Given the description of an element on the screen output the (x, y) to click on. 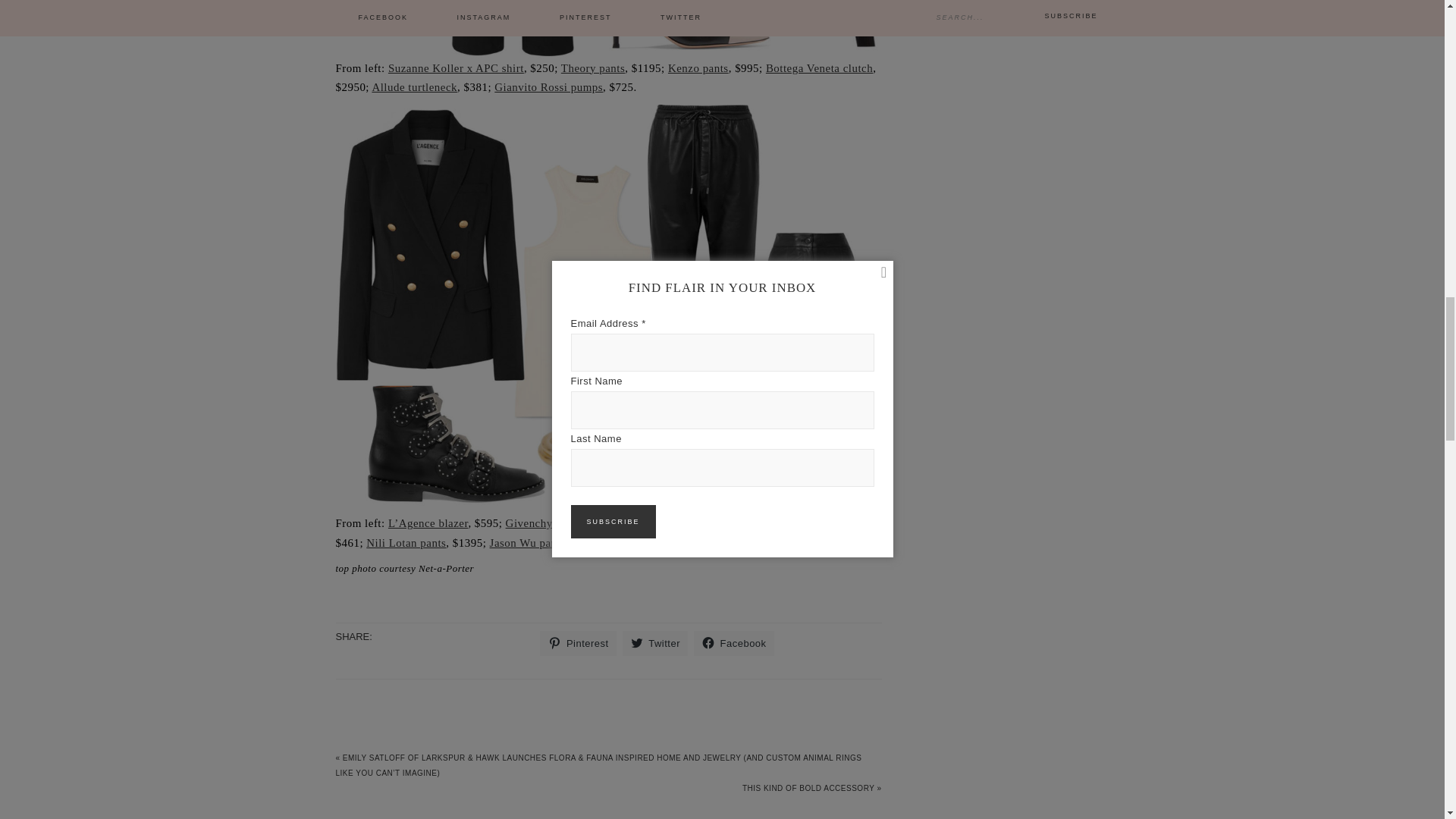
Suzanne Koller x APC shirt (456, 68)
Gianvito Rossi pumps (548, 87)
Goldsign tank top (669, 522)
Bottega Veneta clutch (818, 68)
Givenchy boots (543, 522)
Pinterest (577, 643)
Click to share on Facebook (734, 643)
Click to share on Twitter (655, 643)
Allude turtleneck (414, 87)
Theory pants (592, 68)
